Given the description of an element on the screen output the (x, y) to click on. 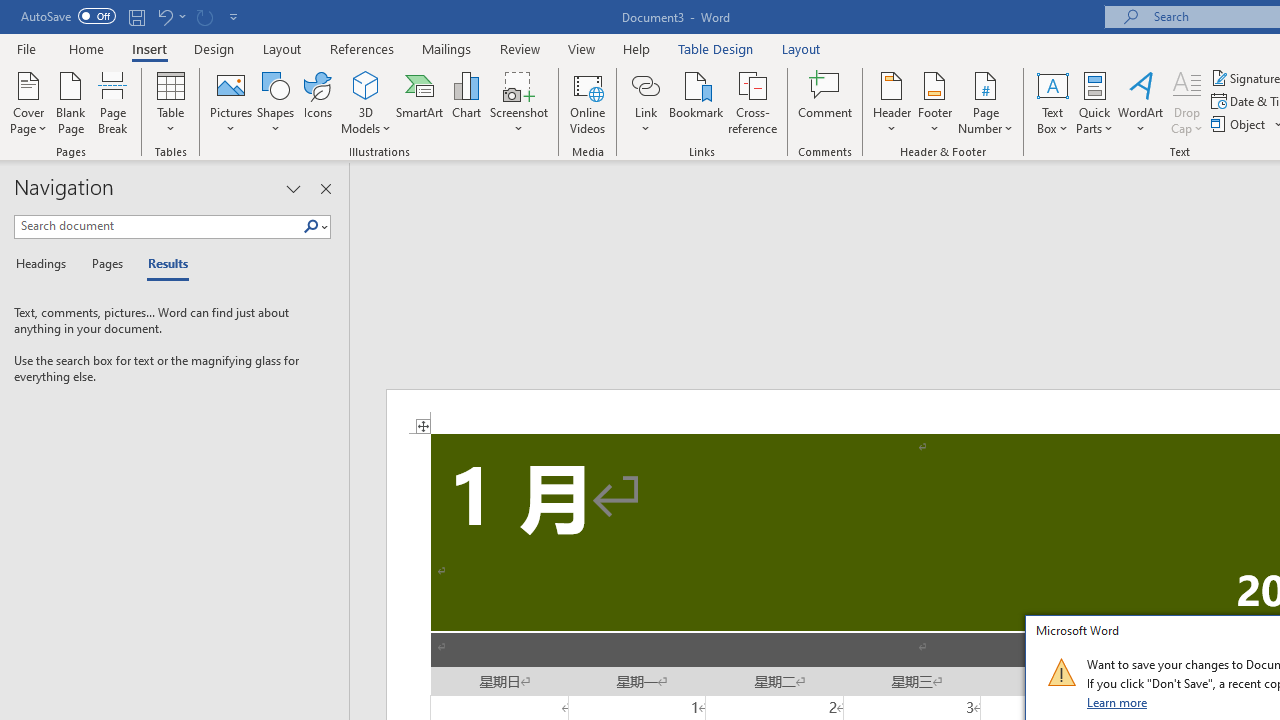
Learn more (1118, 702)
Drop Cap (1187, 102)
SmartArt... (419, 102)
Cross-reference... (752, 102)
Header (891, 102)
Online Videos... (588, 102)
Bookmark... (695, 102)
